Given the description of an element on the screen output the (x, y) to click on. 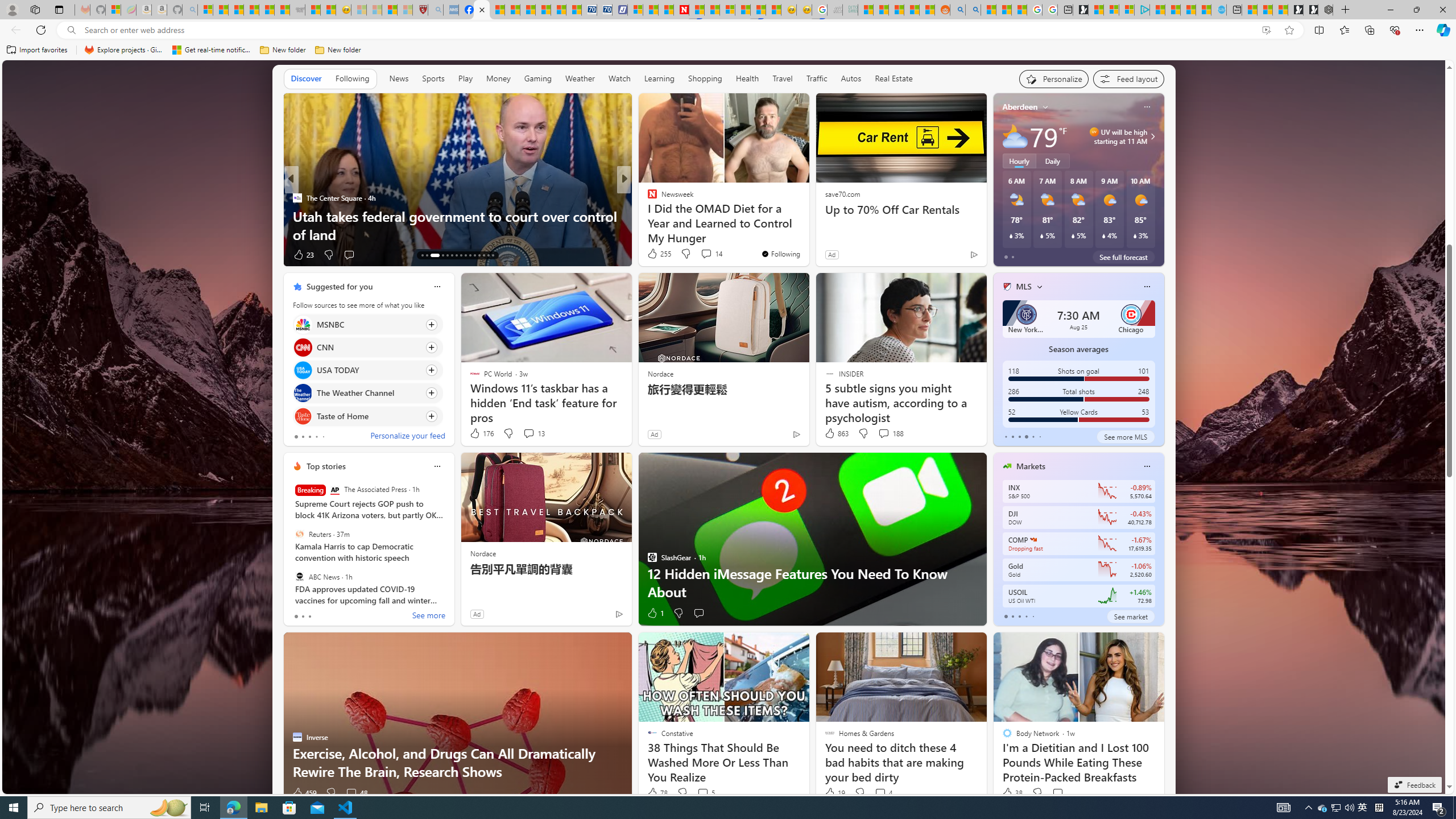
Mostly cloudy (1014, 136)
NASDAQ (1032, 539)
tab-5 (1039, 436)
My location (1045, 106)
View comments 5 Comment (703, 792)
